Given the description of an element on the screen output the (x, y) to click on. 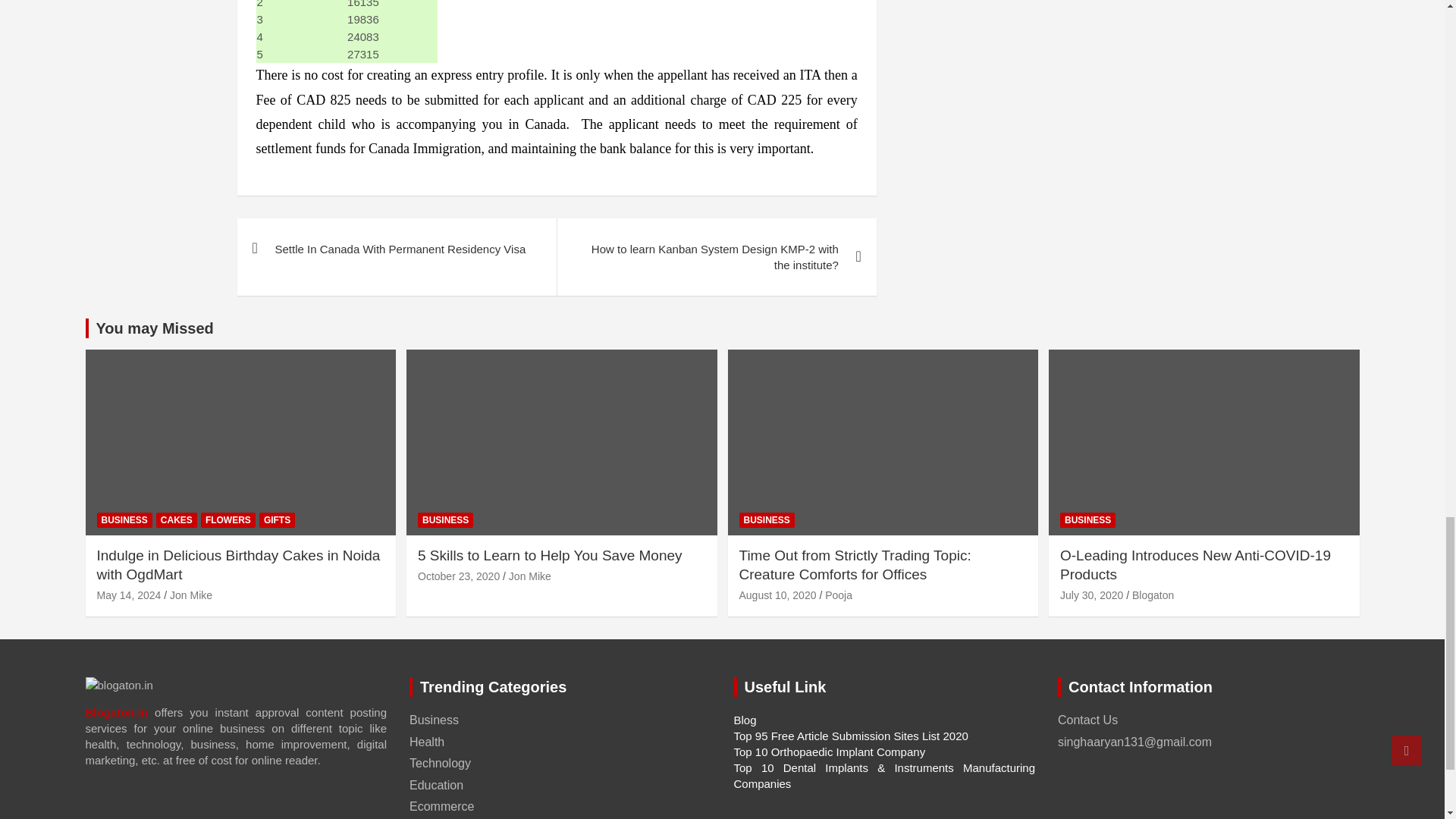
Indulge in Delicious Birthday Cakes in Noida with OgdMart (129, 594)
O-Leading Introduces New Anti-COVID-19 Products (1090, 594)
5 Skills to Learn to Help You Save Money (458, 576)
